Given the description of an element on the screen output the (x, y) to click on. 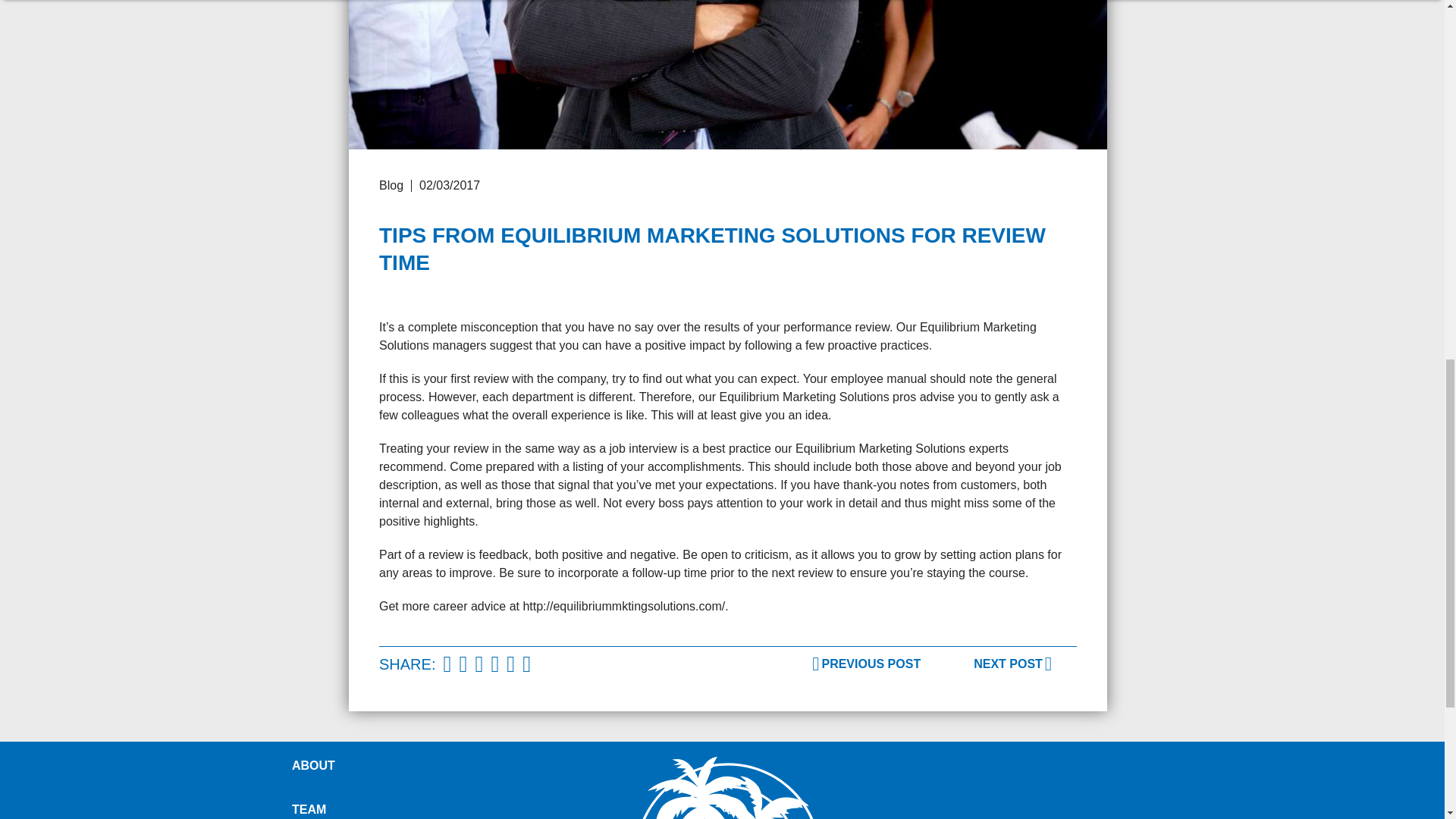
Equilibrium Marketing Solutions (727, 787)
